Given the description of an element on the screen output the (x, y) to click on. 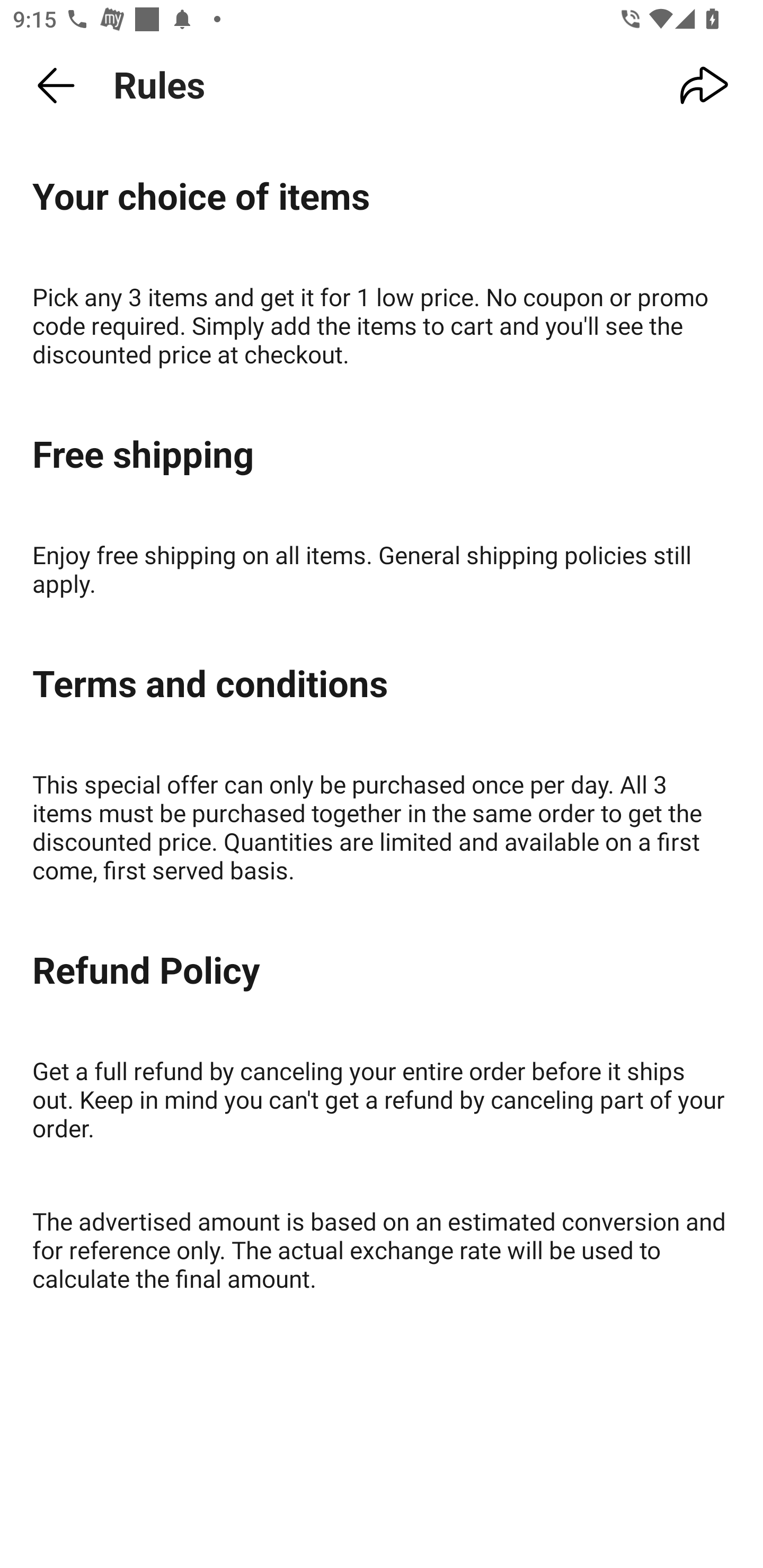
 (56, 86)
 (704, 86)
Your choice of items (381, 197)
Free shipping (381, 455)
Terms and conditions (381, 684)
Refund Policy (381, 971)
